Given the description of an element on the screen output the (x, y) to click on. 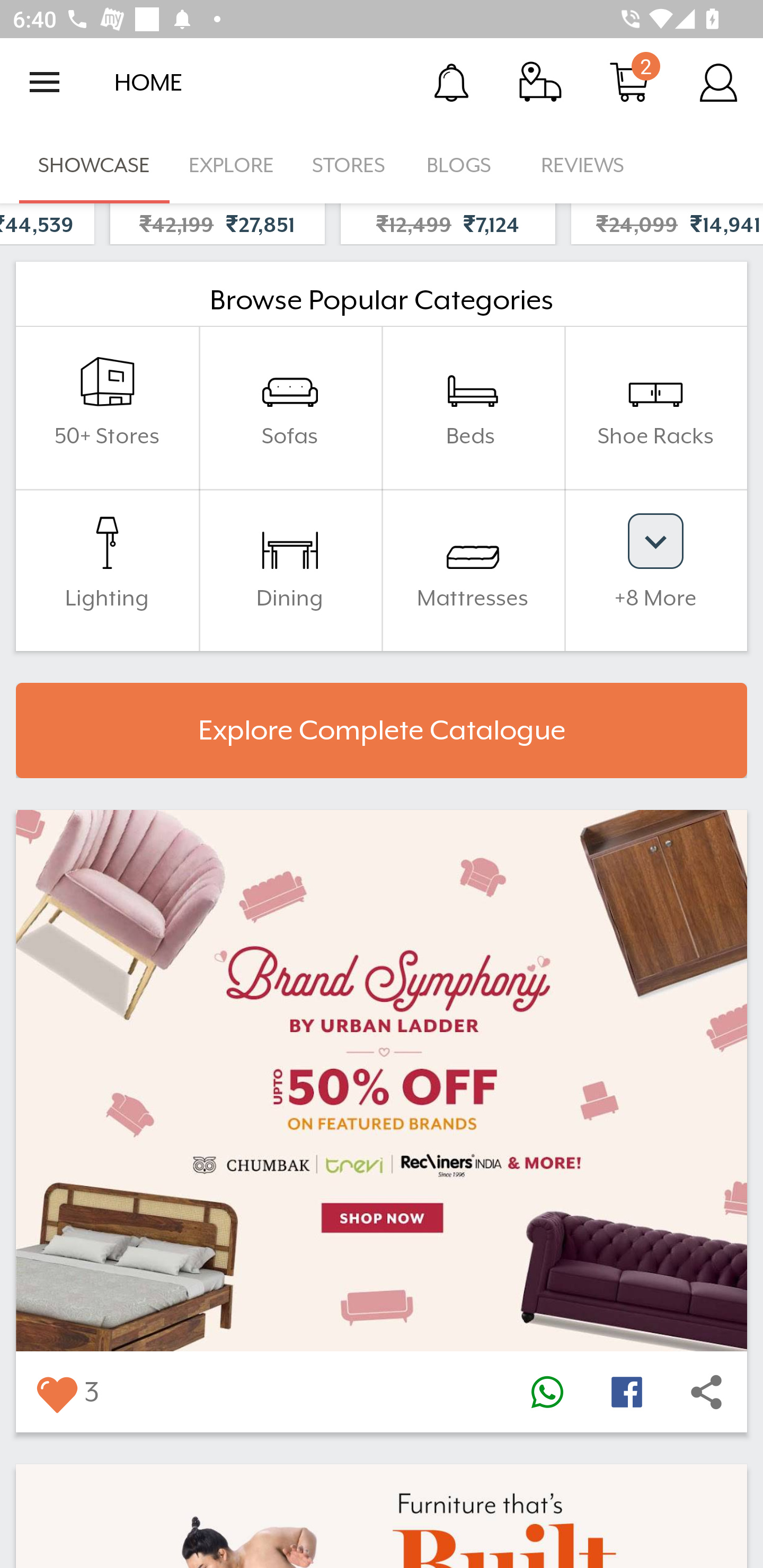
Open navigation drawer (44, 82)
Notification (450, 81)
Track Order (540, 81)
Cart (629, 81)
Account Details (718, 81)
SHOWCASE (94, 165)
EXPLORE (230, 165)
STORES (349, 165)
BLOGS (464, 165)
REVIEWS (582, 165)
50+ Stores (106, 407)
Sofas (289, 407)
Beds  (473, 407)
Shoe Racks (655, 407)
Lighting (106, 569)
Dining (289, 569)
Mattresses (473, 569)
 +8 More (655, 569)
Explore Complete Catalogue (381, 729)
 (55, 1391)
 (547, 1391)
 (626, 1391)
 (706, 1391)
